Given the description of an element on the screen output the (x, y) to click on. 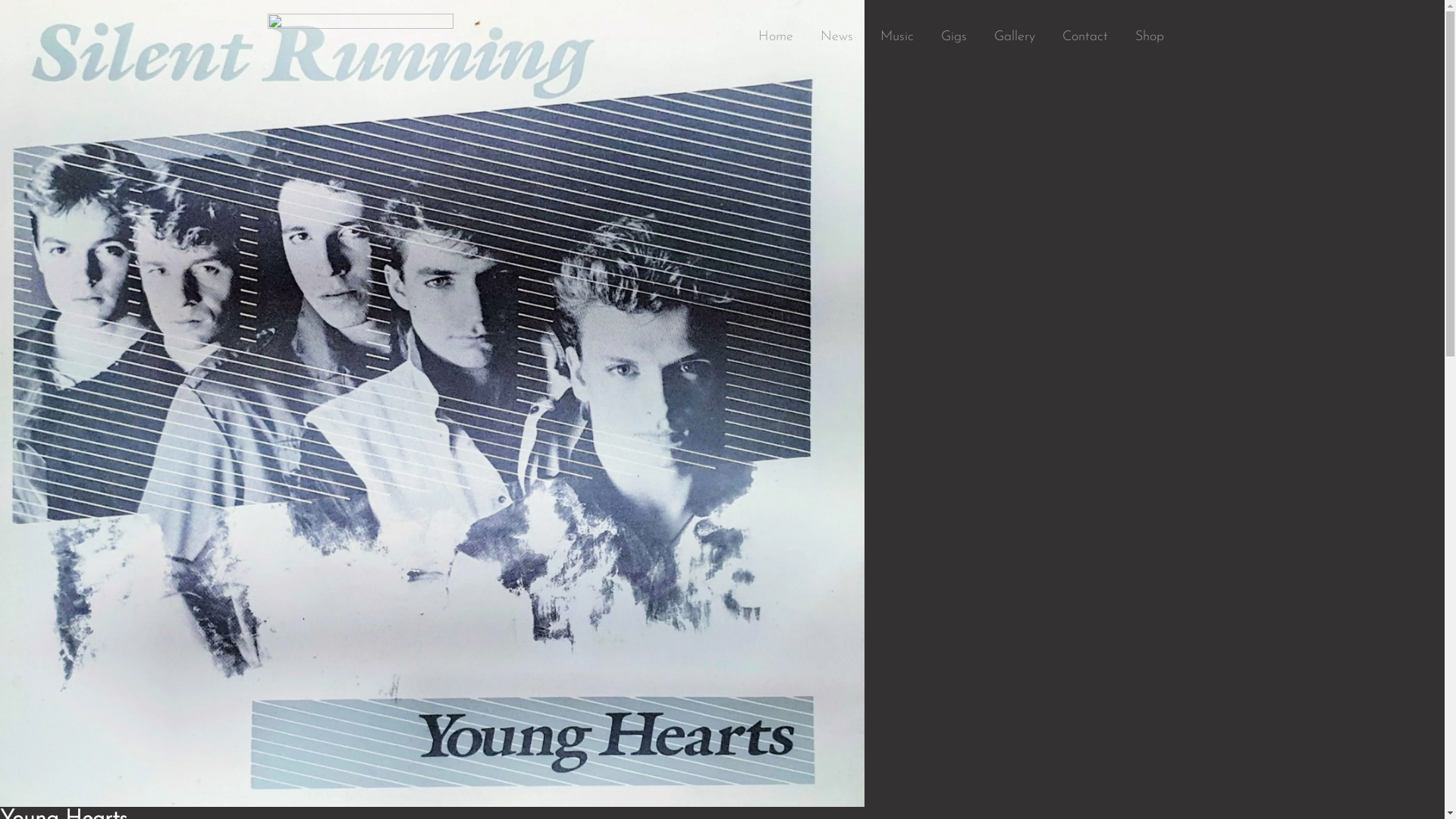
Contact Element type: text (1084, 37)
Shop Element type: text (1148, 37)
News Element type: text (836, 37)
Gigs Element type: text (952, 37)
Music Element type: text (896, 37)
Gallery Element type: text (1013, 37)
Home Element type: text (775, 37)
